Given the description of an element on the screen output the (x, y) to click on. 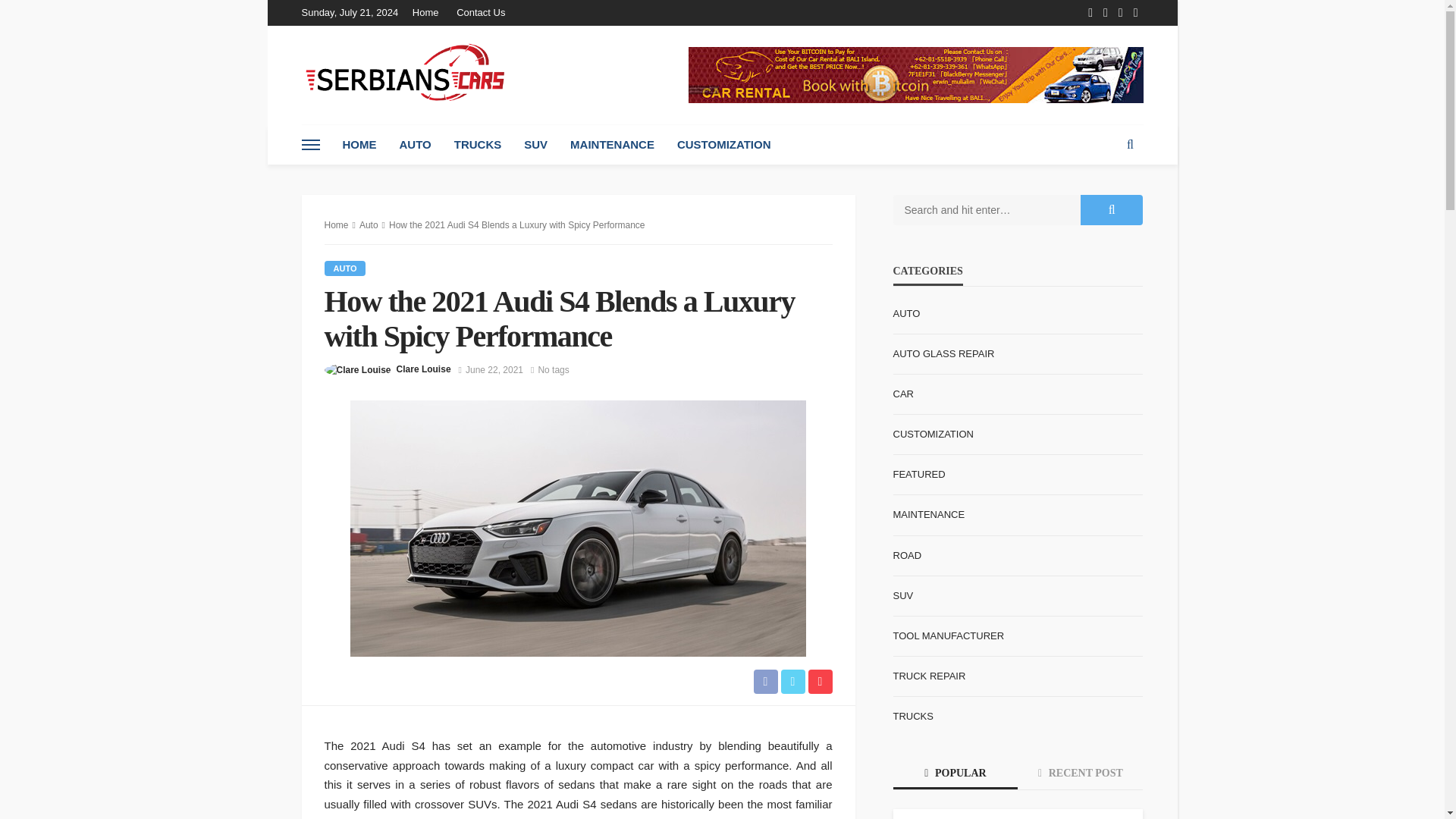
McFarland Audi dealer (694, 817)
Home (429, 12)
MAINTENANCE (612, 144)
SUV (535, 144)
off canvas button (310, 144)
Auto (368, 225)
CUSTOMIZATION (724, 144)
AUTO (415, 144)
Home (336, 225)
Auto (345, 268)
Contact Us (480, 12)
Clare Louise (423, 368)
HOME (358, 144)
TRUCKS (477, 144)
serbians cars (406, 74)
